Given the description of an element on the screen output the (x, y) to click on. 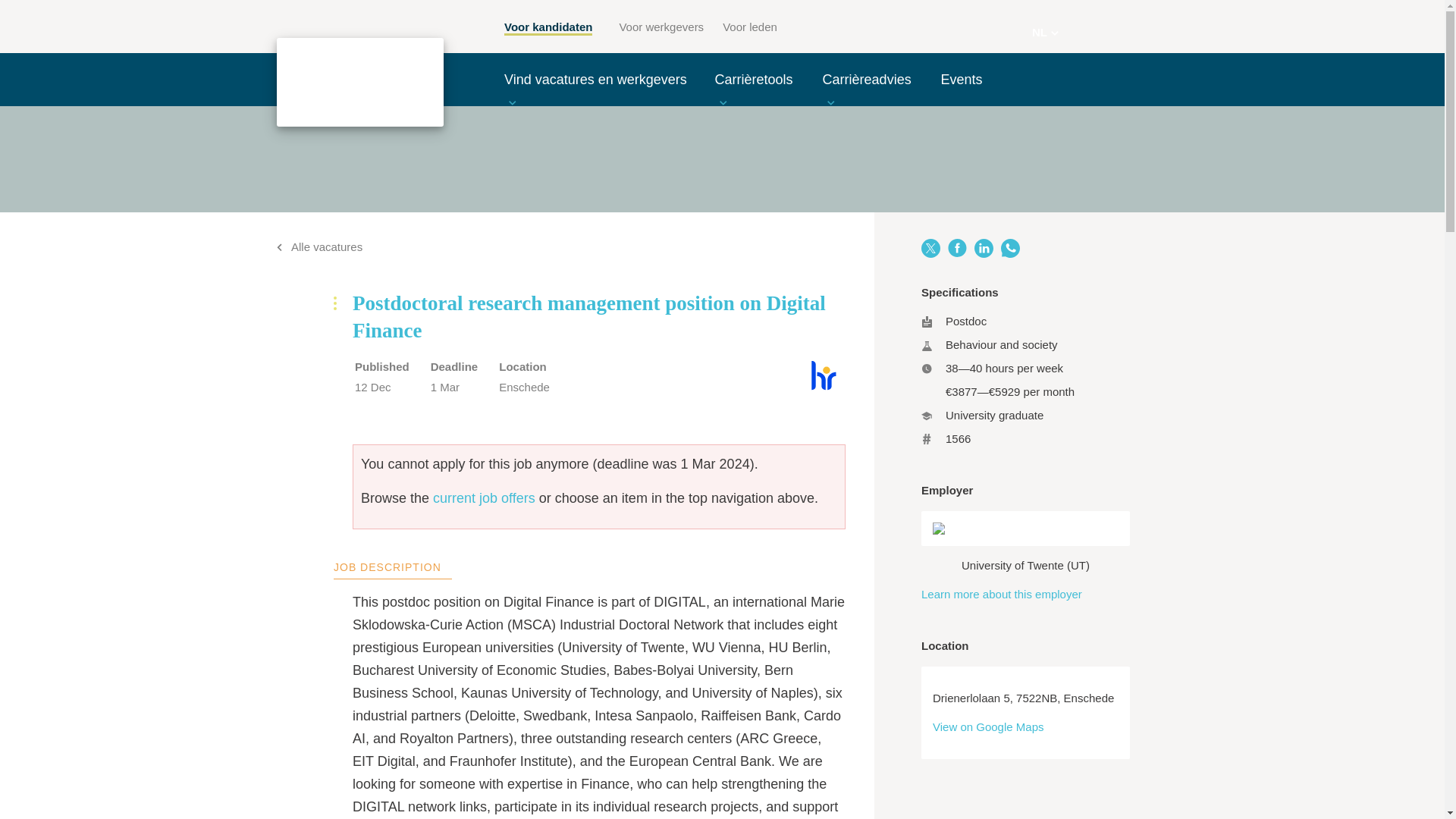
Voor werkgevers (660, 26)
NL (1045, 32)
Voor leden (749, 26)
HRS4R (823, 390)
Voor kandidaten (547, 28)
Events (960, 79)
Alle vacatures (319, 246)
current job offers (483, 498)
